Given the description of an element on the screen output the (x, y) to click on. 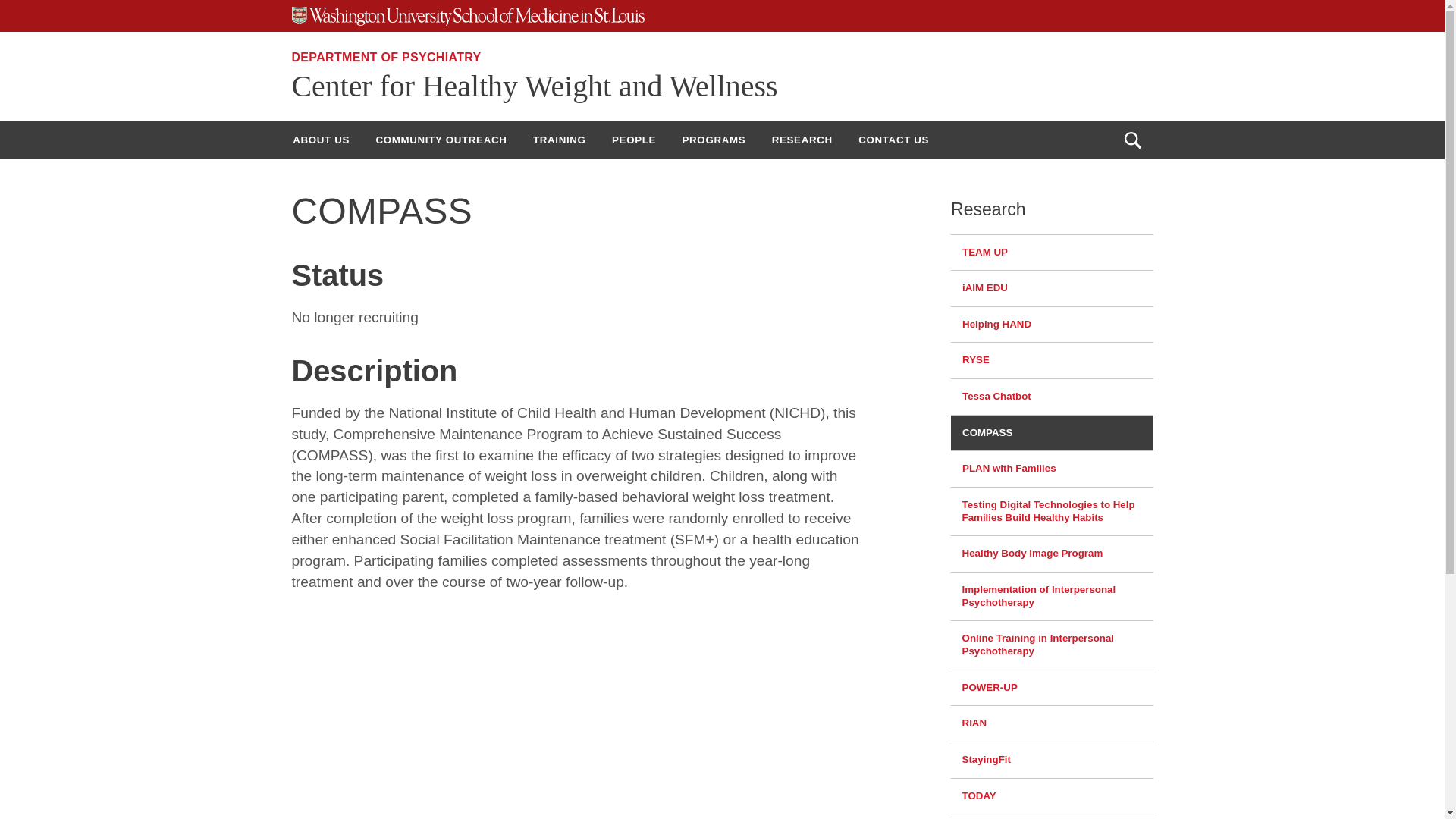
PEOPLE (632, 139)
ABOUT US (321, 139)
PROGRAMS (714, 139)
Center for Healthy Weight and Wellness (534, 86)
COMMUNITY OUTREACH (441, 139)
TRAINING (558, 139)
DEPARTMENT OF PSYCHIATRY (385, 56)
RESEARCH (802, 139)
